Given the description of an element on the screen output the (x, y) to click on. 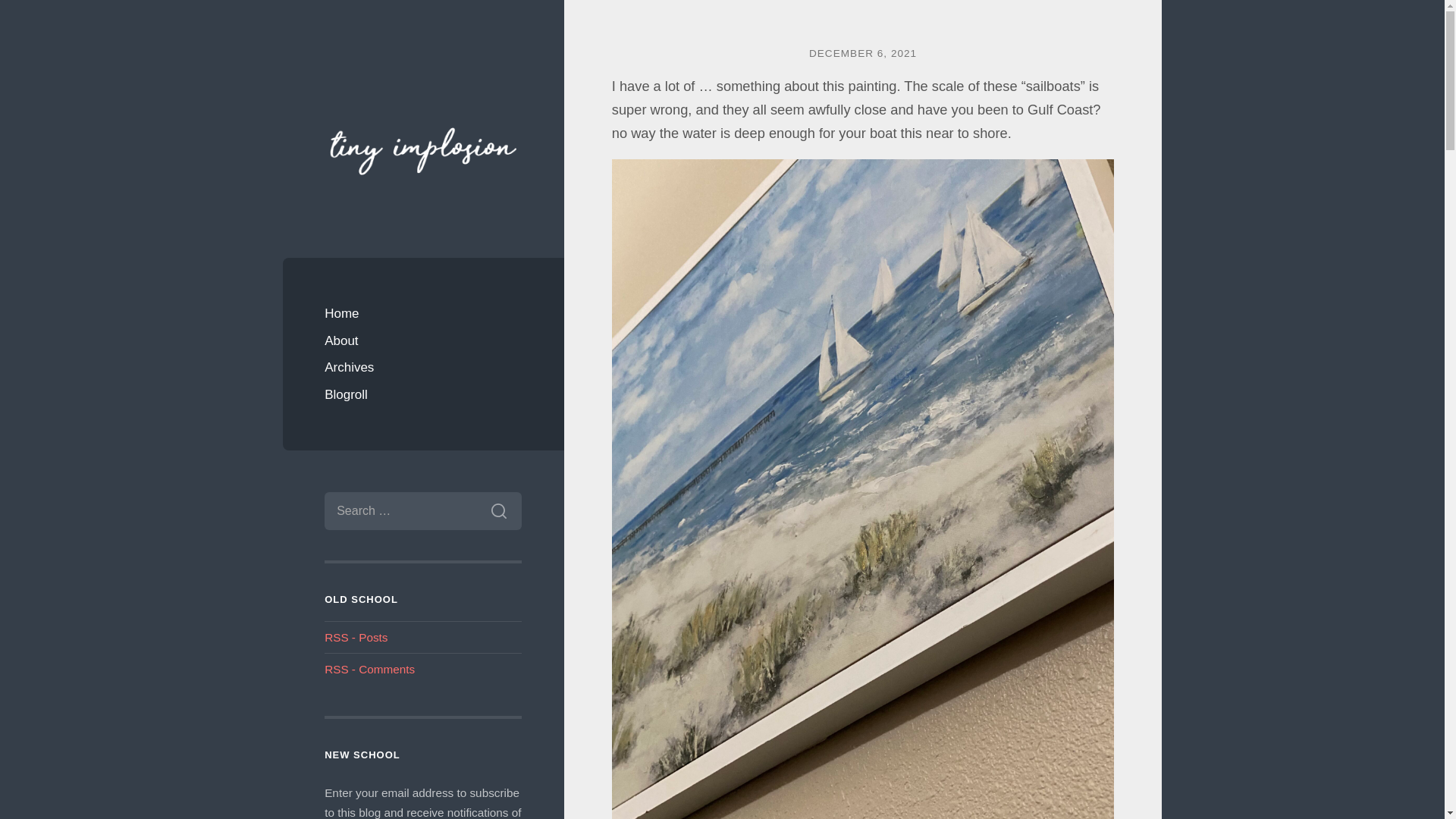
RSS - Comments (369, 668)
RSS - Posts (355, 636)
Home (422, 313)
Search (498, 510)
Archives (422, 367)
tiny implosion (422, 148)
Search (498, 510)
About (422, 340)
Blogroll (422, 394)
Subscribe to Posts (355, 636)
